Given the description of an element on the screen output the (x, y) to click on. 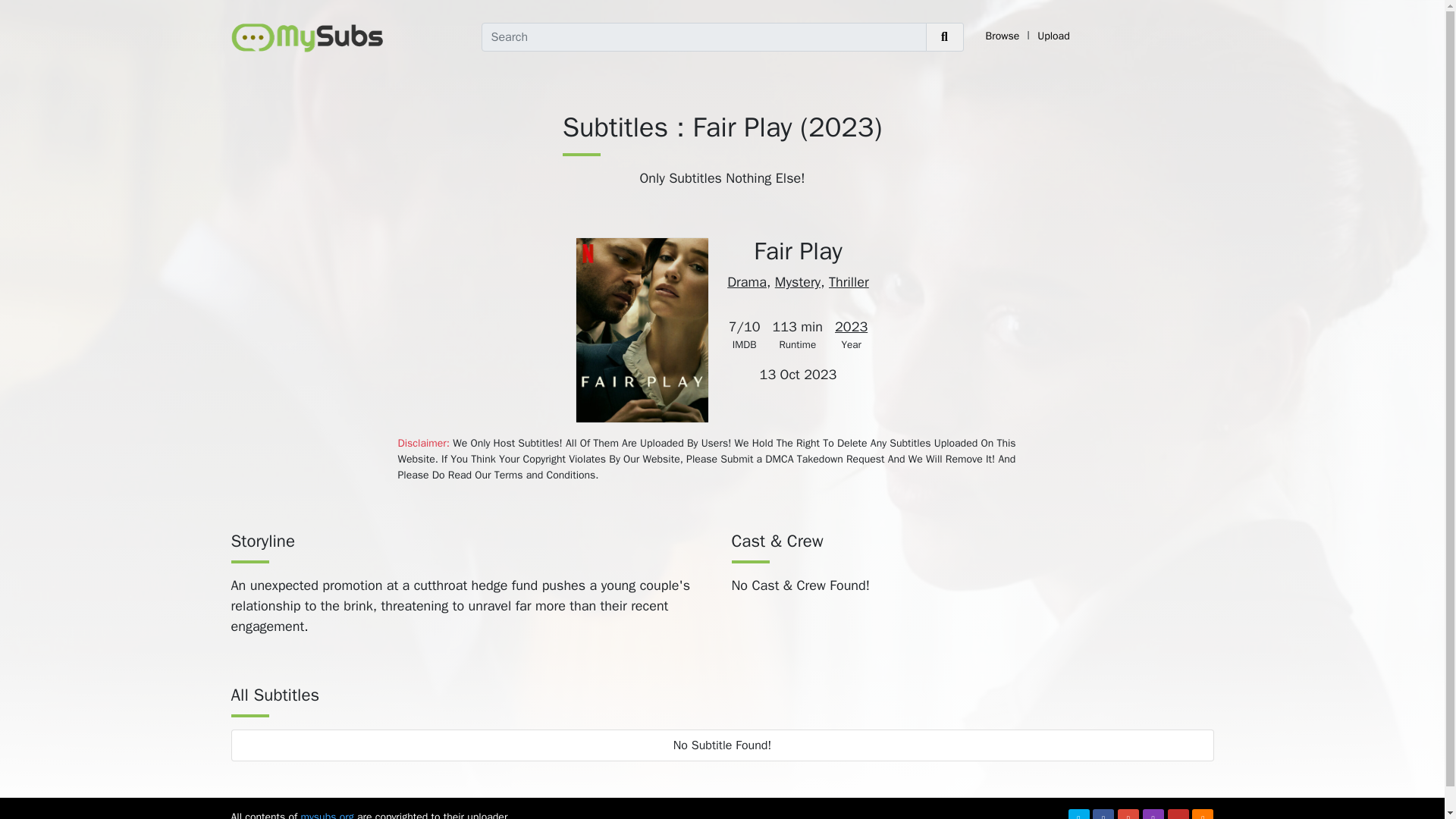
2023 (850, 326)
Mystery (797, 281)
Drama (746, 281)
mysubs.org (326, 814)
Browse (1002, 35)
Thriller (848, 281)
Upload (1053, 35)
